Given the description of an element on the screen output the (x, y) to click on. 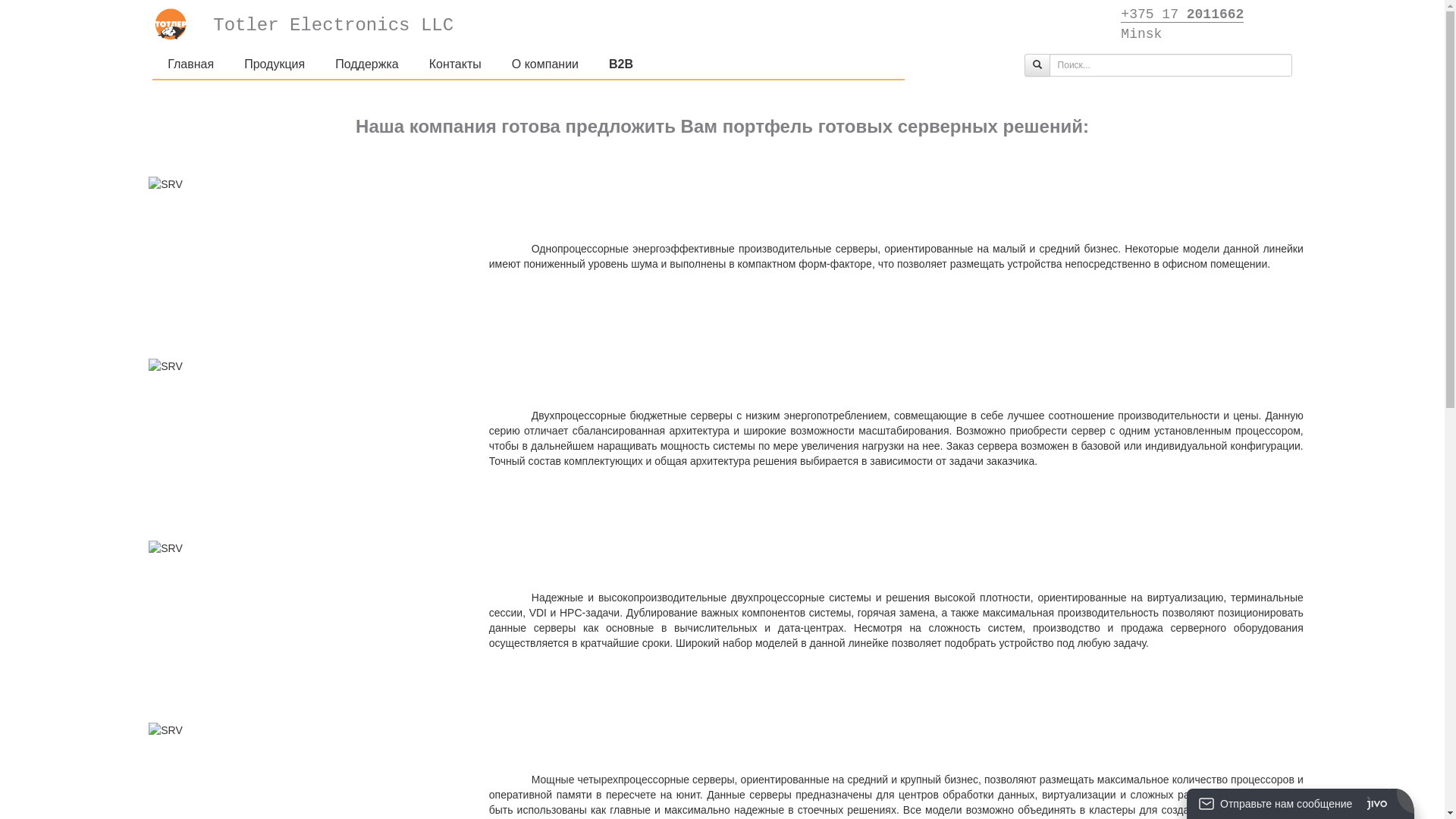
B2B Element type: text (620, 63)
